Given the description of an element on the screen output the (x, y) to click on. 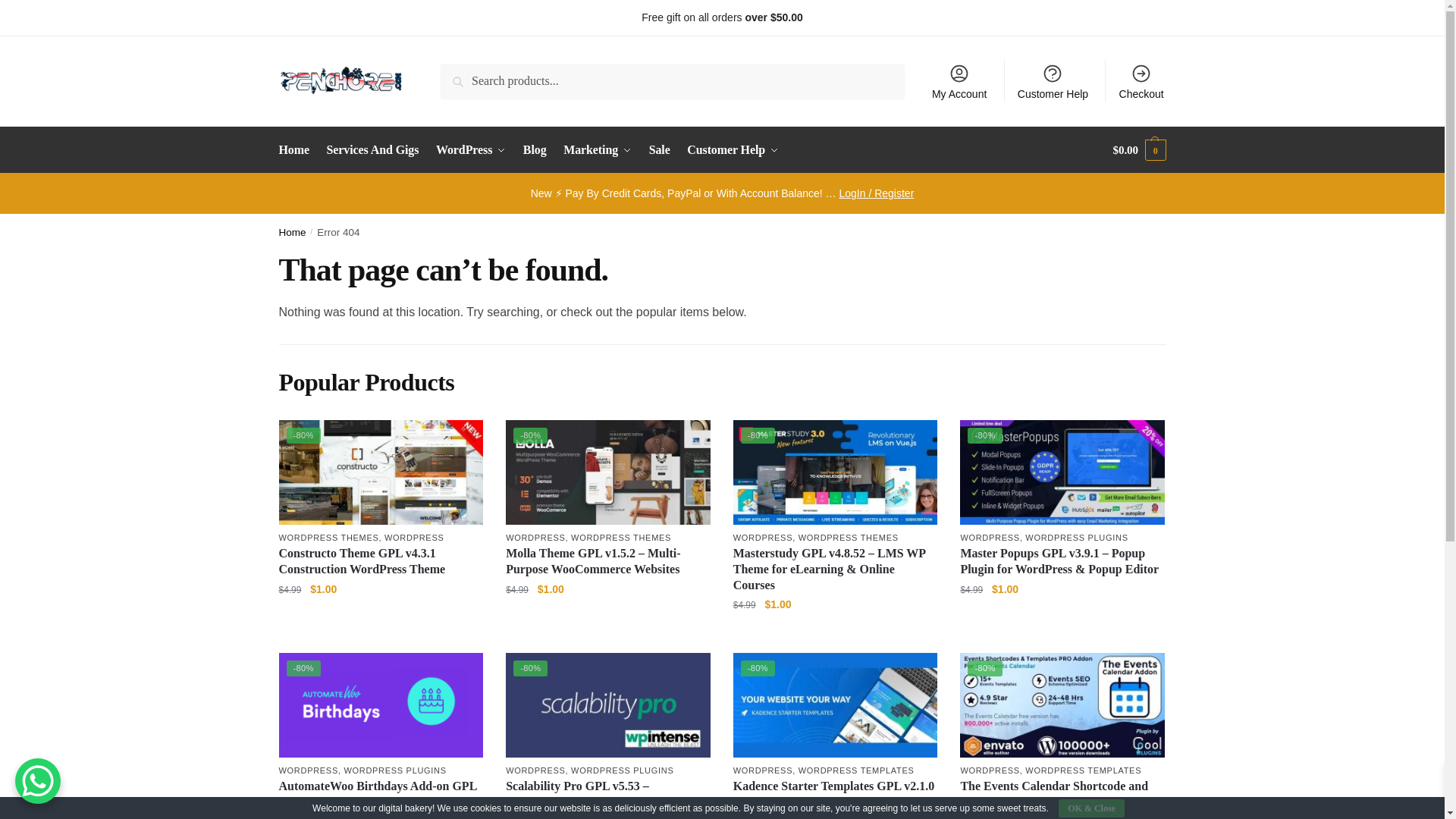
Constructo Theme GPL v4.3.1 Construction WordPress Theme (381, 472)
Support via WhatsApp (331, 17)
Services And Gigs (372, 149)
WordPress (470, 149)
My Account (959, 80)
Checkout (1141, 80)
View your shopping cart (1139, 149)
Freelance Services (1120, 17)
Customer Help (1053, 80)
Search (462, 74)
